Given the description of an element on the screen output the (x, y) to click on. 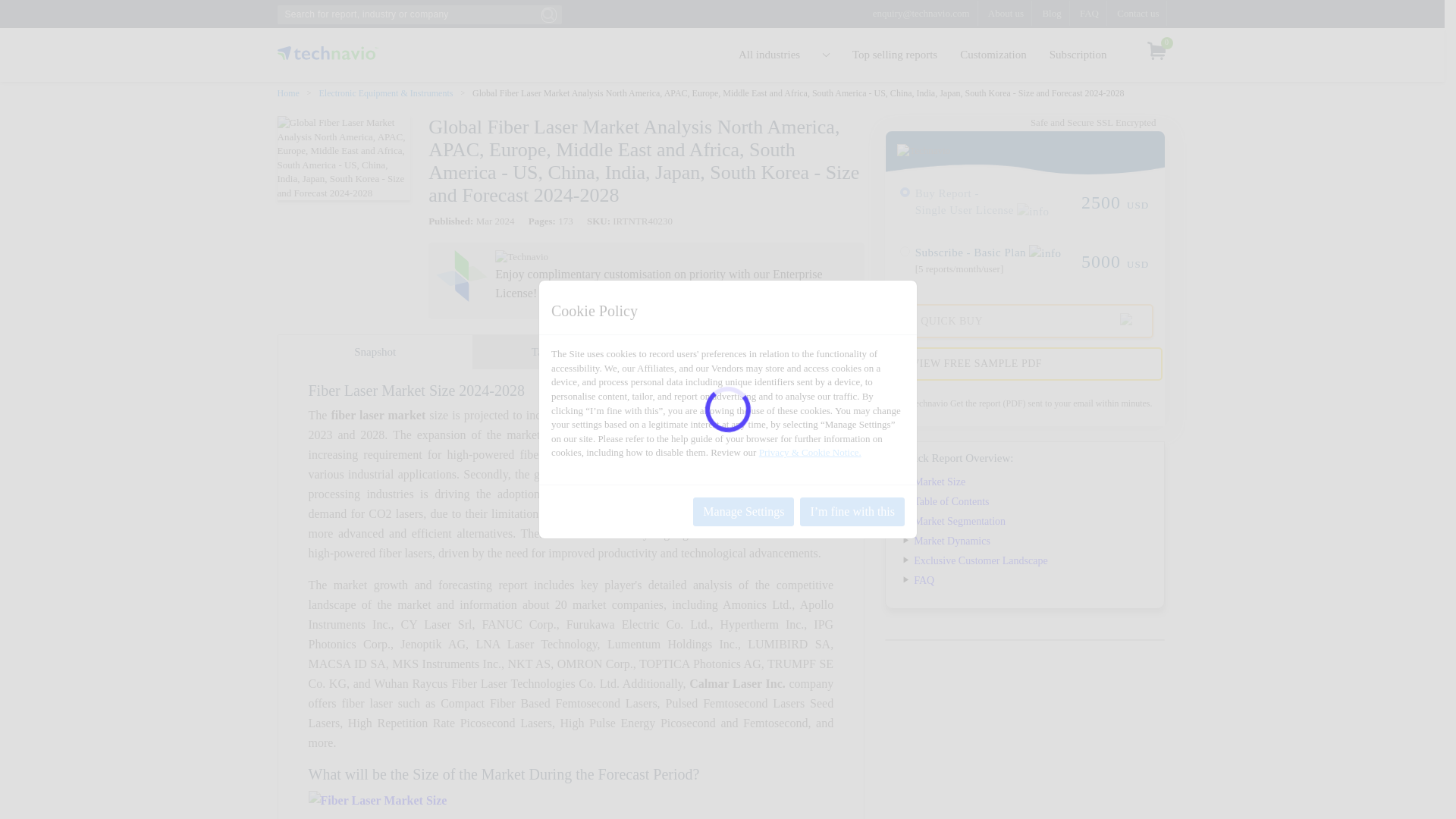
All industries (783, 54)
on (904, 251)
299002 (904, 192)
Contact us (1138, 12)
Blog (1050, 12)
All industries (783, 54)
Customization (993, 54)
Subscription (1077, 54)
Top selling reports (894, 54)
About us (1005, 12)
